Given the description of an element on the screen output the (x, y) to click on. 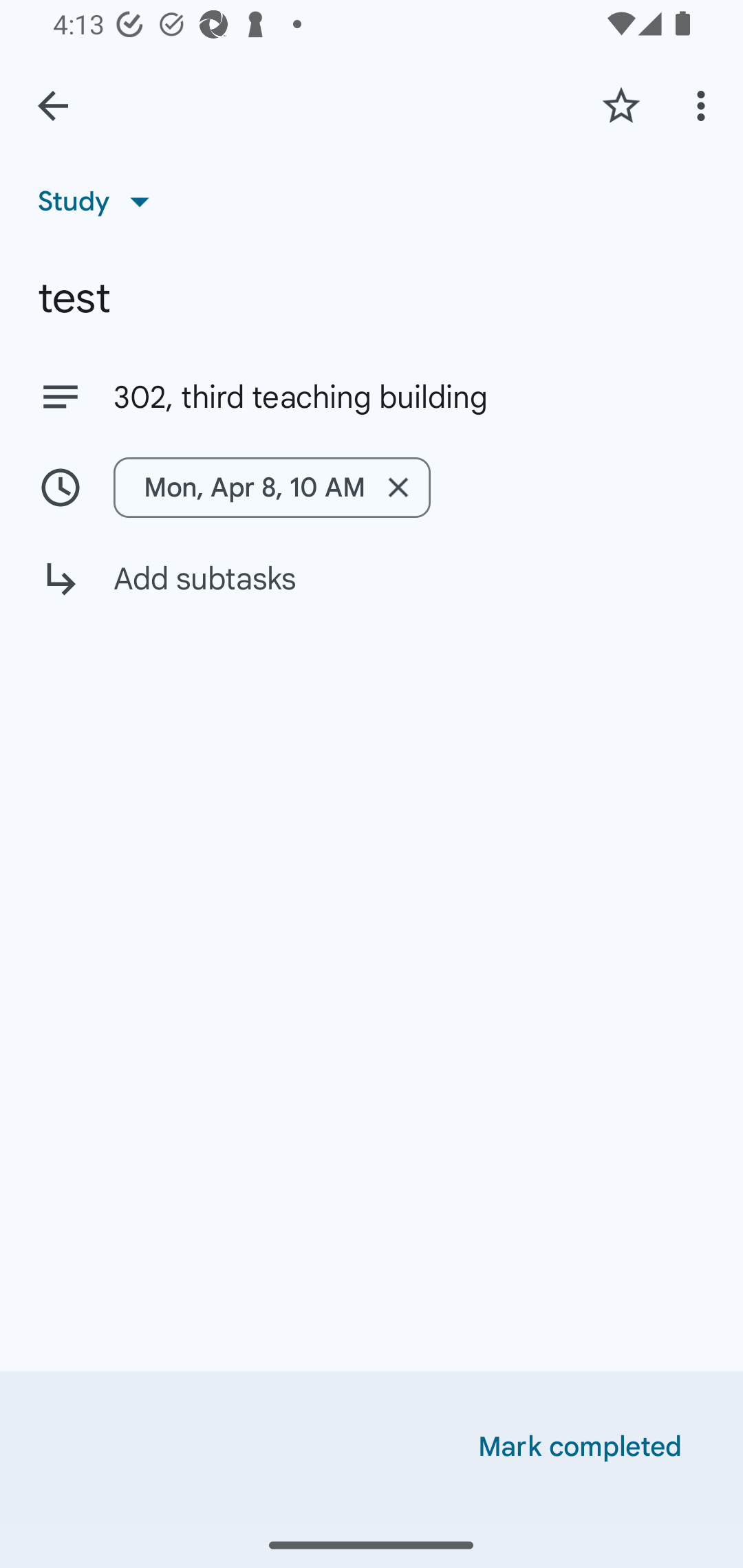
Back (53, 105)
Add star (620, 105)
More options (704, 105)
Study List, Study selected, 1 of 23 (99, 201)
test (371, 298)
302, third teaching building (371, 396)
302, third teaching building (409, 397)
Mon, Apr 8, 10 AM Remove date/time (371, 487)
Mon, Apr 8, 10 AM Remove date/time (271, 487)
Add subtasks (371, 593)
Mark completed (580, 1446)
